Given the description of an element on the screen output the (x, y) to click on. 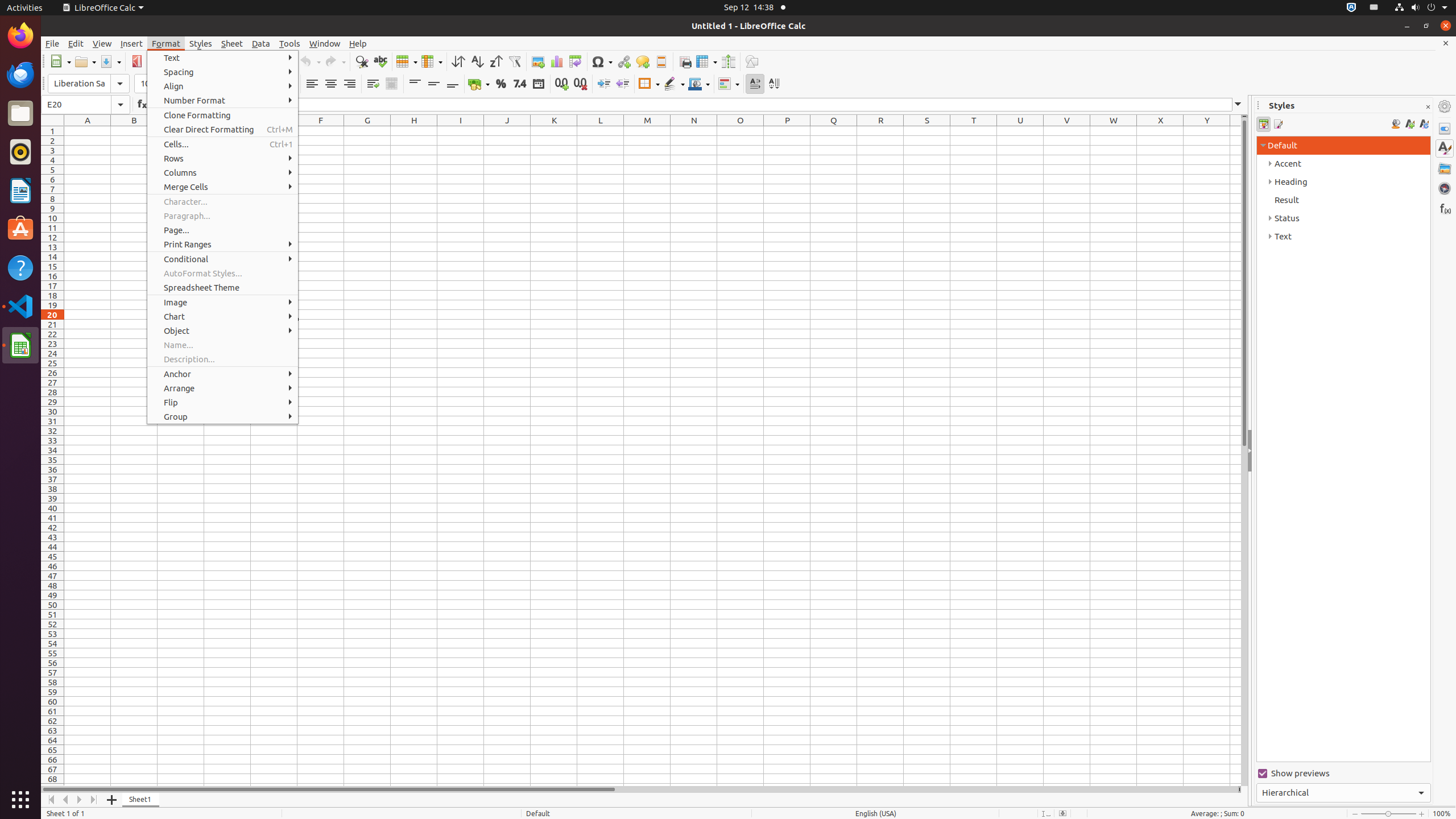
W1 Element type: table-cell (1113, 130)
Page... Element type: menu-item (222, 229)
Merge Cells Element type: menu (222, 186)
Chart Element type: push-button (556, 61)
P1 Element type: table-cell (786, 130)
